Given the description of an element on the screen output the (x, y) to click on. 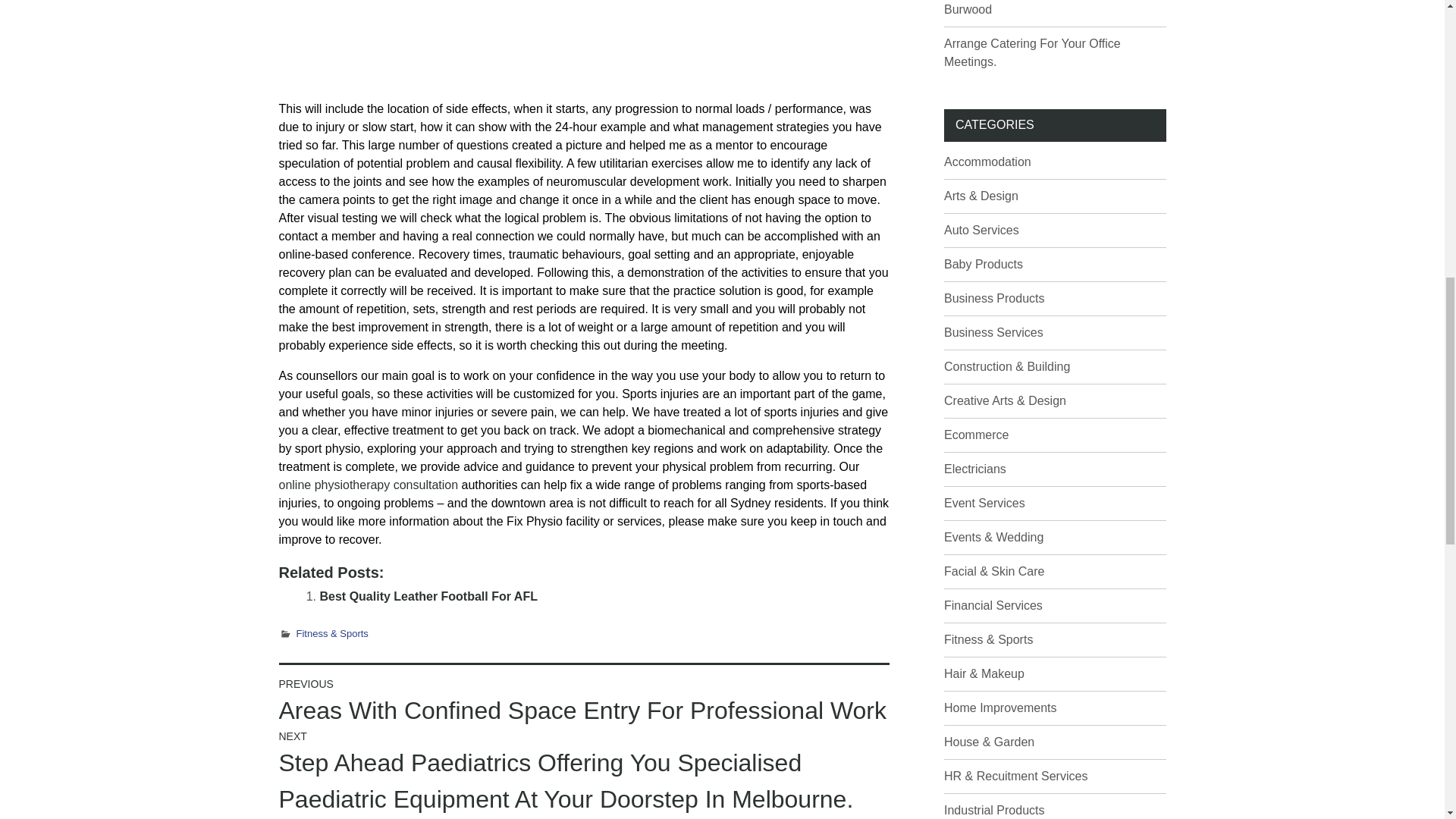
Electricians (974, 468)
Auto Services (981, 229)
Ecommerce (976, 434)
Arrange Catering For Your Office Meetings. (1032, 51)
online physiotherapy consultation (583, 43)
Event Services (984, 502)
Business Products (994, 297)
Financial Services (992, 604)
online physiotherapy consultation (368, 484)
Industrial Products (994, 809)
Best Quality Leather Football For AFL (428, 595)
Business Services (993, 332)
online physiotherapy consultation (368, 484)
Baby Products (983, 264)
